Given the description of an element on the screen output the (x, y) to click on. 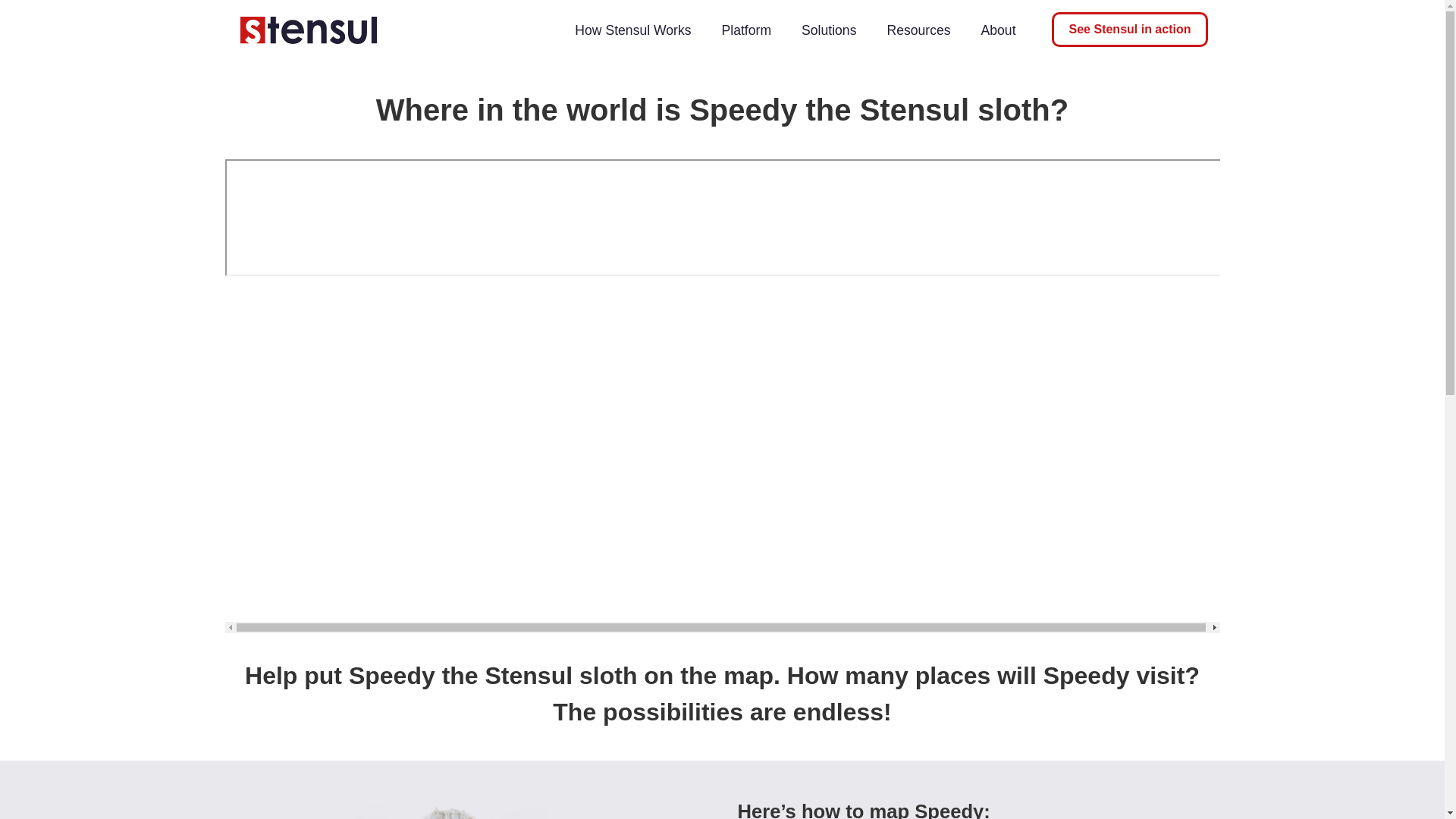
How Stensul Works (632, 29)
Platform (746, 29)
About (998, 29)
Solutions (828, 29)
Resources (917, 29)
